Given the description of an element on the screen output the (x, y) to click on. 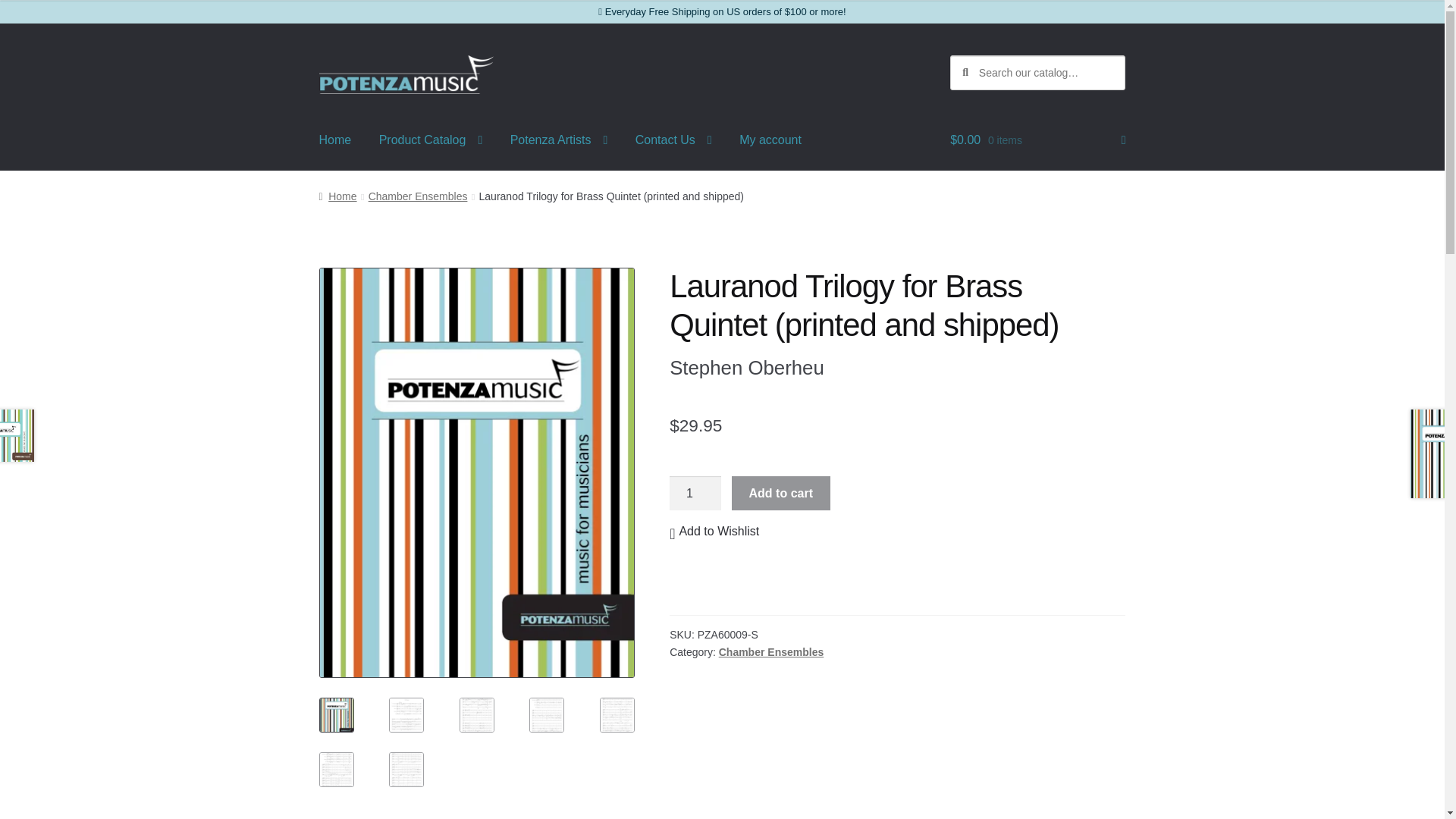
Add to Wishlist (713, 531)
Potenza Artists (558, 139)
View your shopping cart (1037, 139)
My account (769, 139)
PayPal (897, 594)
Add to cart (780, 493)
Chamber Ensembles (771, 652)
Chamber Ensembles (417, 196)
Home (337, 196)
